Given the description of an element on the screen output the (x, y) to click on. 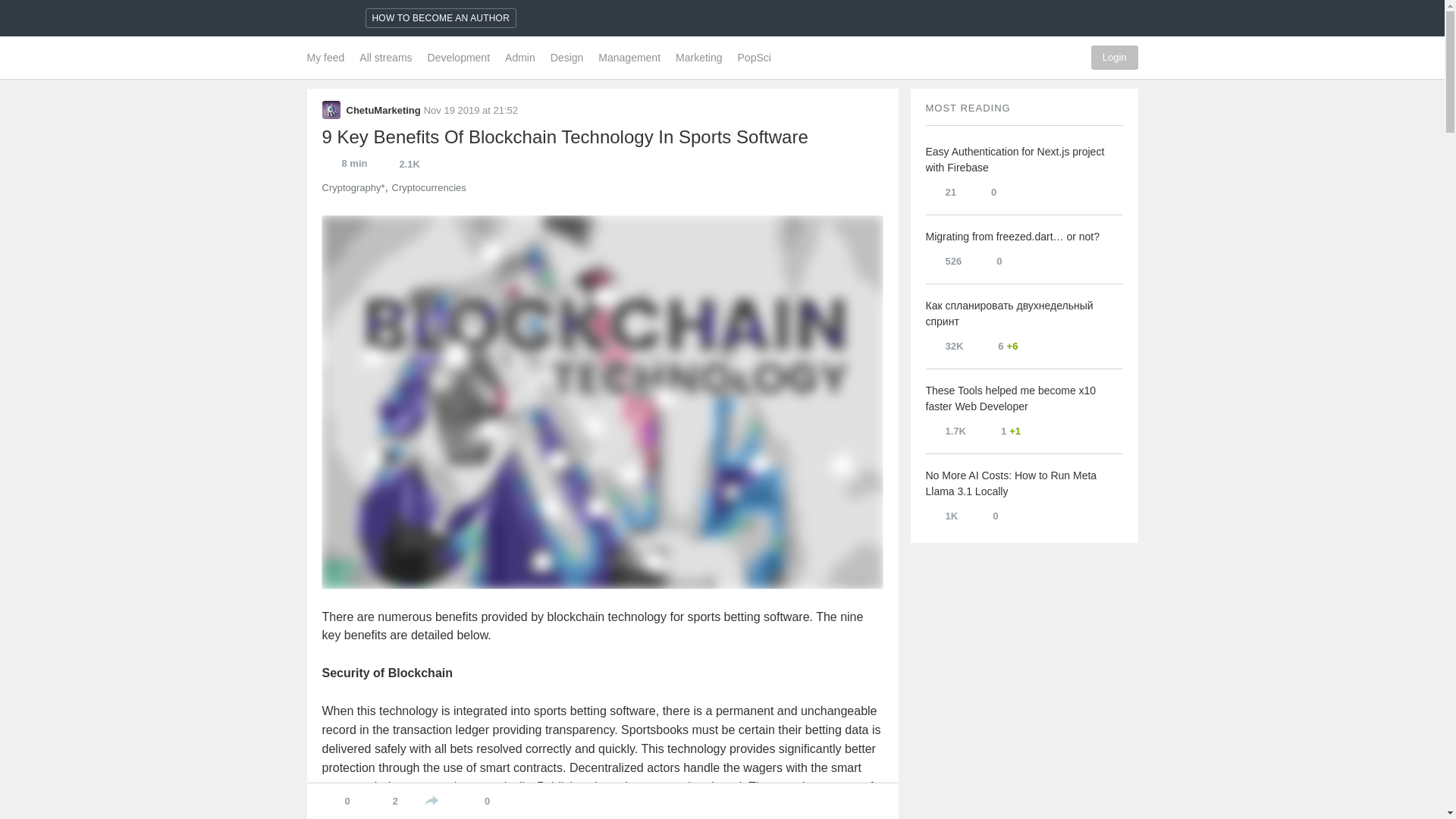
2019-11-19, 21:52 (470, 110)
Blockchain Development Services (592, 809)
Read comments (983, 191)
PopSci (750, 57)
Habr (327, 18)
Read comments (1000, 430)
Habr (327, 18)
Cryptocurrencies (428, 188)
Search (1008, 57)
Management (629, 57)
